Given the description of an element on the screen output the (x, y) to click on. 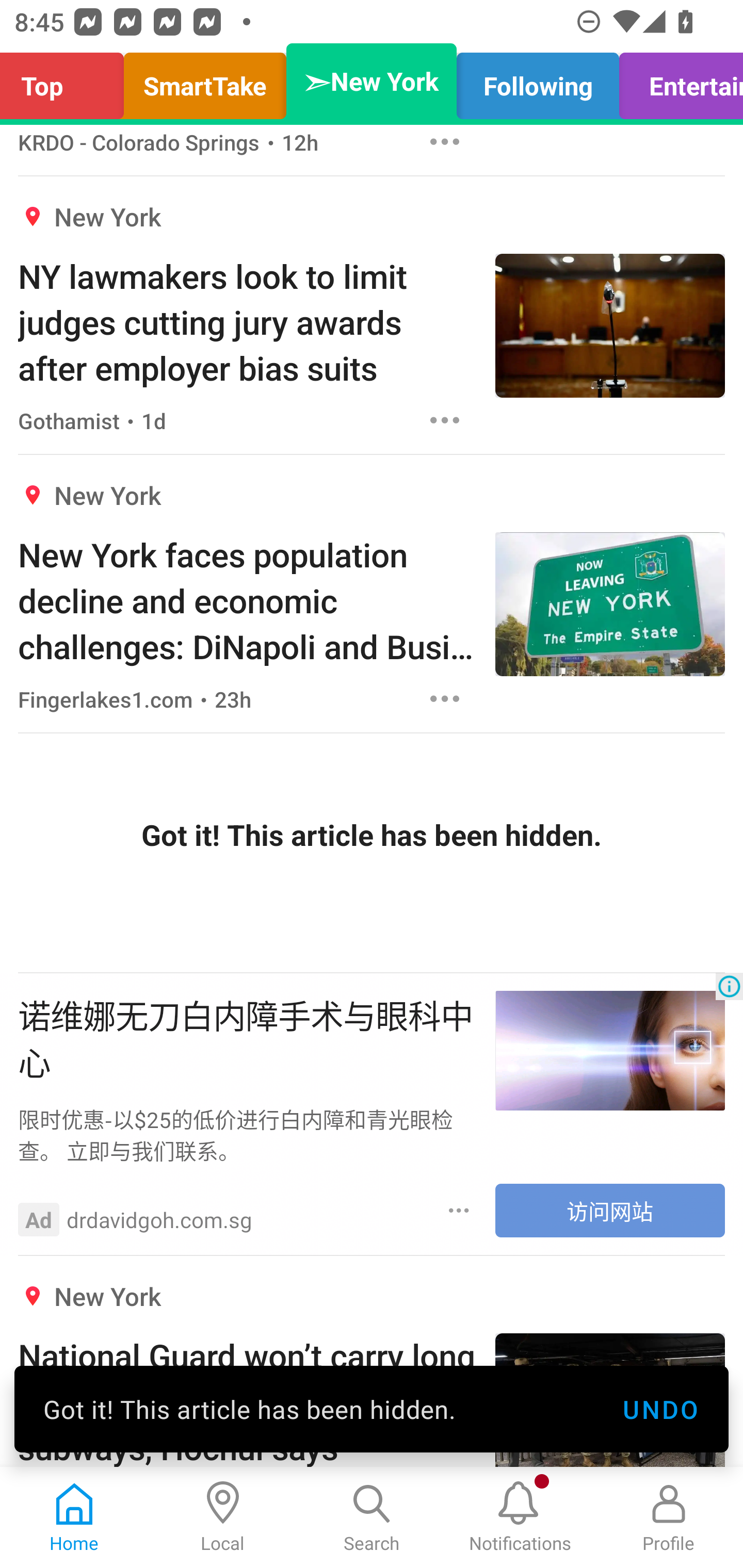
Top (67, 81)
SmartTake (204, 81)
➣New York (371, 81)
Following (537, 81)
Options (444, 144)
Options (444, 420)
Options (444, 699)
Ad Choices Icon (729, 986)
诺维娜无刀白内障手术与眼科中心 (247, 1037)
限时优惠-以$25的低价进行白内障和青光眼检查。 立即与我们联系。 (247, 1133)
访问网站 (610, 1210)
Options (459, 1211)
drdavidgoh.com.sg (159, 1219)
UNDO (660, 1408)
Local (222, 1517)
Search (371, 1517)
Notifications, New notification Notifications (519, 1517)
Profile (668, 1517)
